Given the description of an element on the screen output the (x, y) to click on. 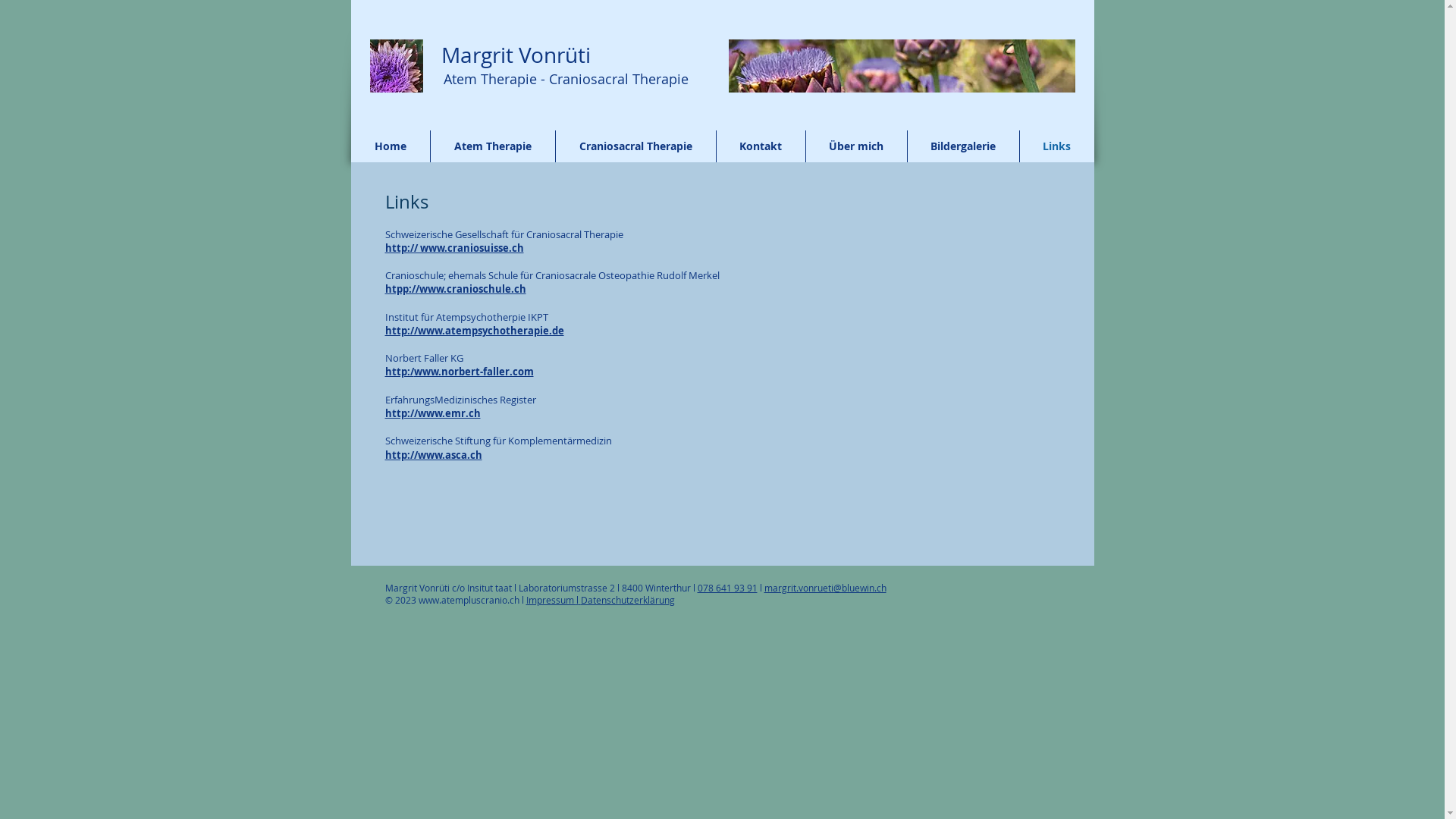
l Element type: text (522, 599)
Atem Therapie Element type: text (492, 146)
  Element type: text (432, 54)
www.atempluscranio.ch Element type: text (468, 599)
Home Element type: text (389, 146)
http:// www.craniosuisse.ch Element type: text (454, 247)
http://www.emr.ch Element type: text (432, 413)
Bildergalerie Element type: text (962, 146)
www.norbert-faller.com Element type: text (473, 371)
Kontakt Element type: text (759, 146)
http://www.atempsychotherapie.de Element type: text (474, 330)
Home Element type: hover (396, 65)
www.cranioschule.ch Element type: text (471, 288)
078 641 93 91 Element type: text (727, 587)
http://www.asca.ch Element type: text (433, 454)
Impressum  Element type: text (551, 599)
margrit.vonrueti@bluewin.ch Element type: text (825, 587)
Links Element type: text (1056, 146)
Craniosacral Therapie Element type: text (635, 146)
               Element type: text (634, 54)
